Given the description of an element on the screen output the (x, y) to click on. 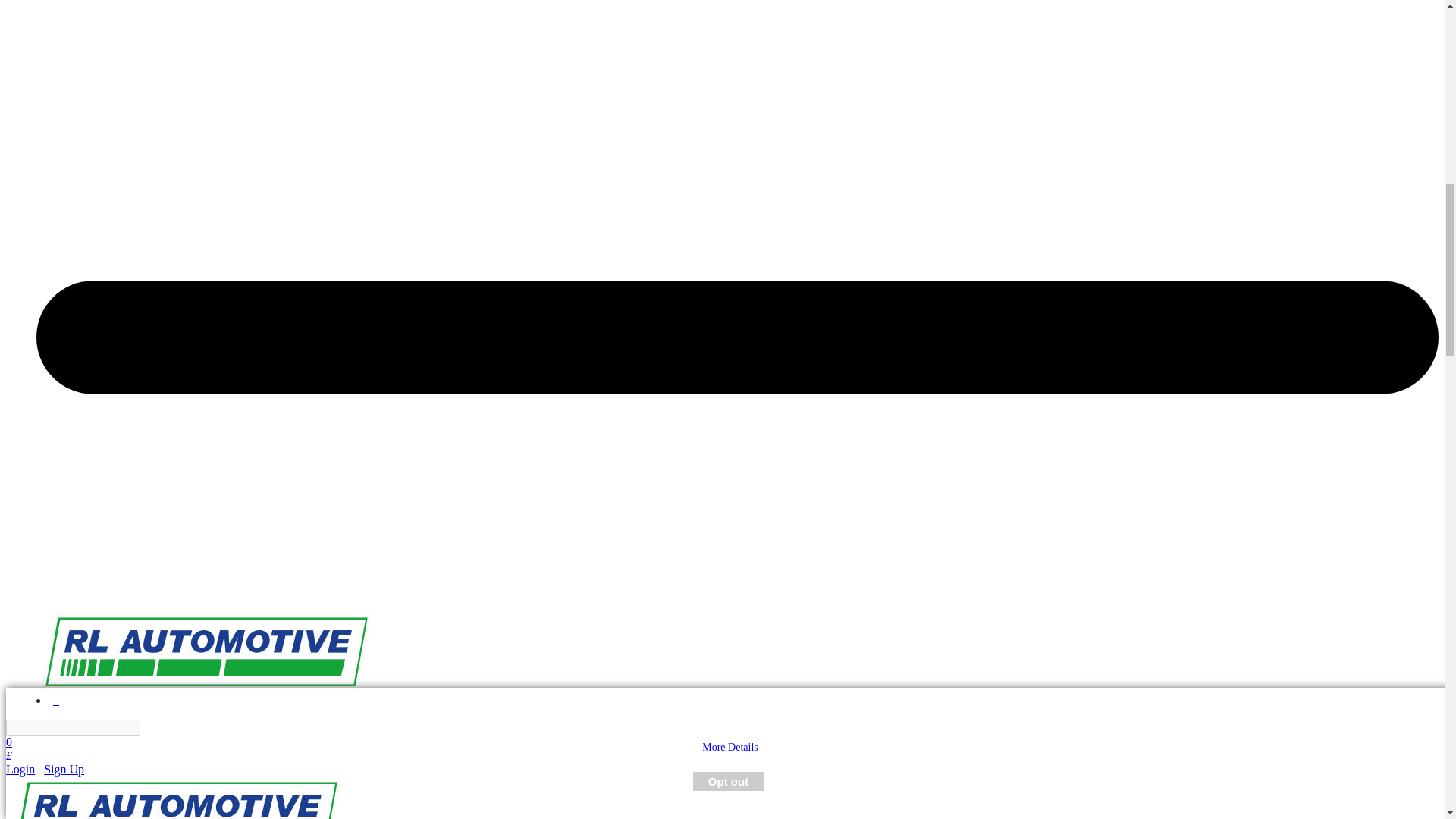
Login (19, 768)
RL Automotive (176, 797)
Find (148, 727)
RL Automotive (206, 651)
Sign Up (63, 768)
RL Automotive (206, 686)
Login (19, 768)
Sign Up (63, 768)
